Given the description of an element on the screen output the (x, y) to click on. 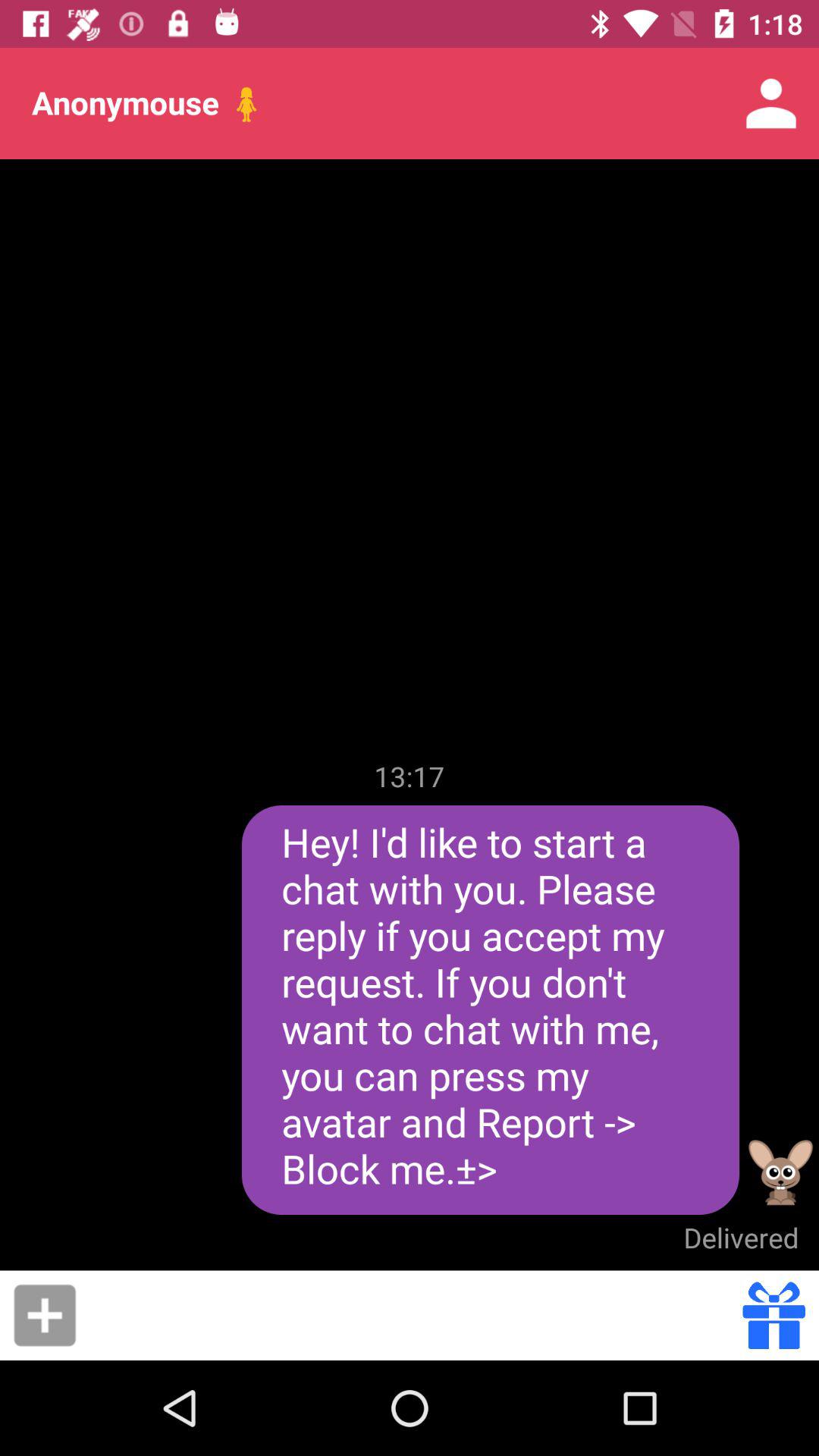
turn on item at the bottom left corner (44, 1315)
